Given the description of an element on the screen output the (x, y) to click on. 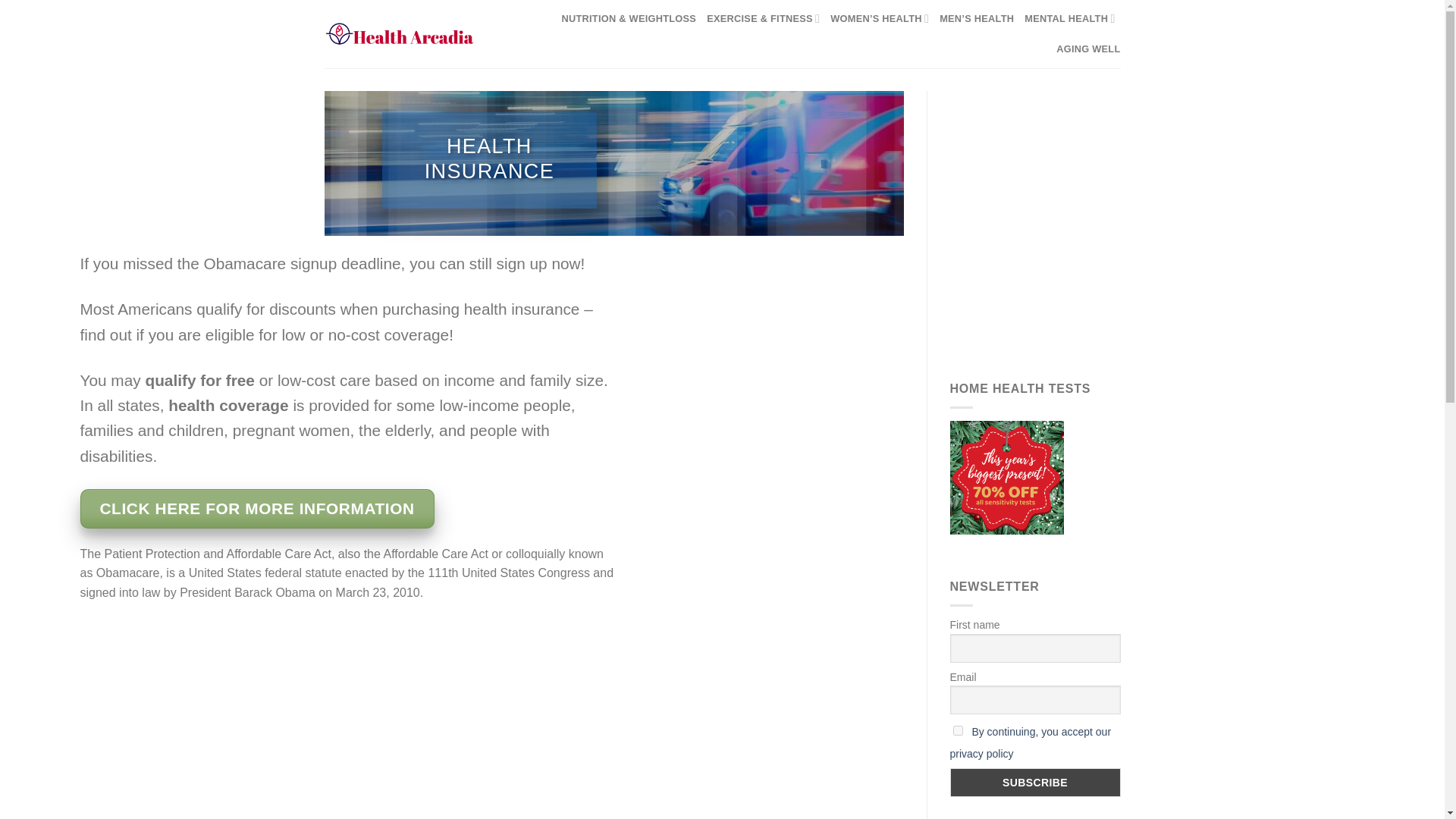
Subscribe (1034, 782)
MENTAL HEALTH (1070, 19)
AGING WELL (1088, 49)
Health Arcadia (399, 33)
on (957, 730)
Subscribe (1034, 782)
CLICK HERE FOR MORE INFORMATION (256, 508)
By continuing, you accept our privacy policy (1029, 742)
